Given the description of an element on the screen output the (x, y) to click on. 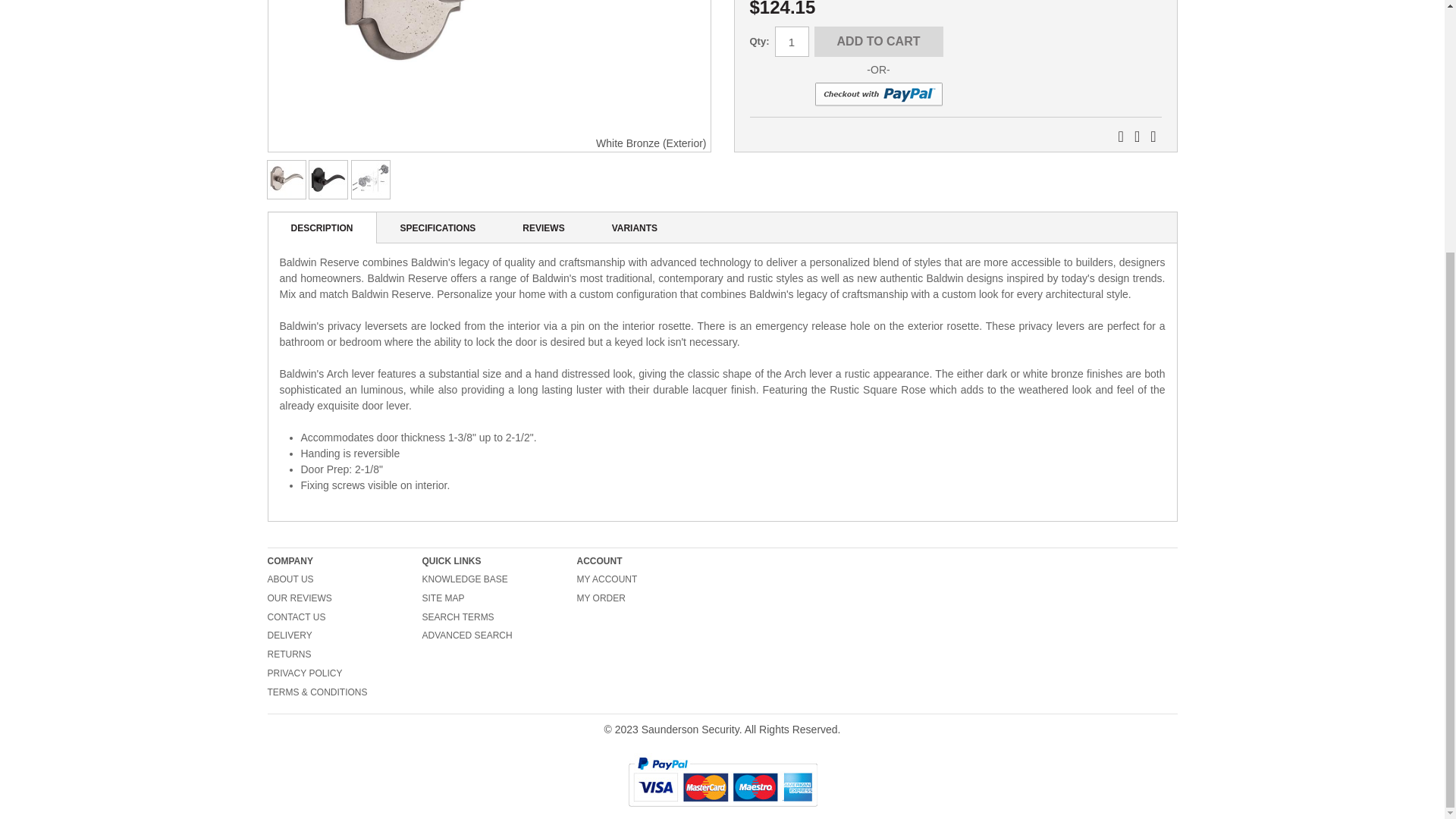
Qty (791, 41)
Checkout with PayPal (878, 94)
Typical Privacy Lever Installation (370, 179)
1 (791, 41)
Add to Cart (878, 41)
